Given the description of an element on the screen output the (x, y) to click on. 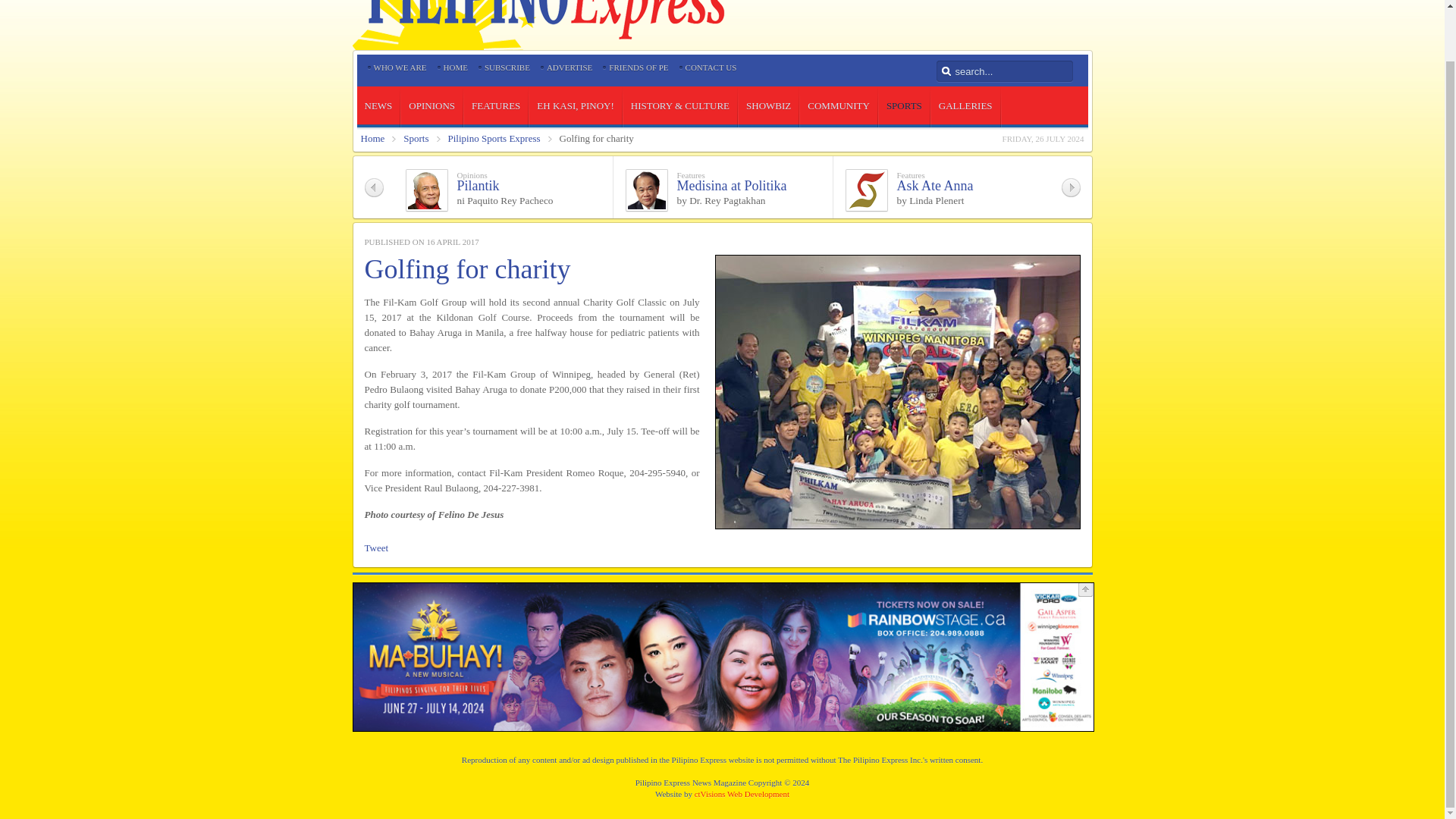
NEWS (377, 105)
SUBSCRIBE (506, 67)
CONTACT US (710, 67)
OPINIONS (432, 105)
FRIENDS OF PE (638, 67)
ADVERTISE (569, 67)
WHO WE ARE (399, 67)
FEATURES (495, 105)
HOME (455, 67)
EH KASI, PINOY! (575, 105)
